Given the description of an element on the screen output the (x, y) to click on. 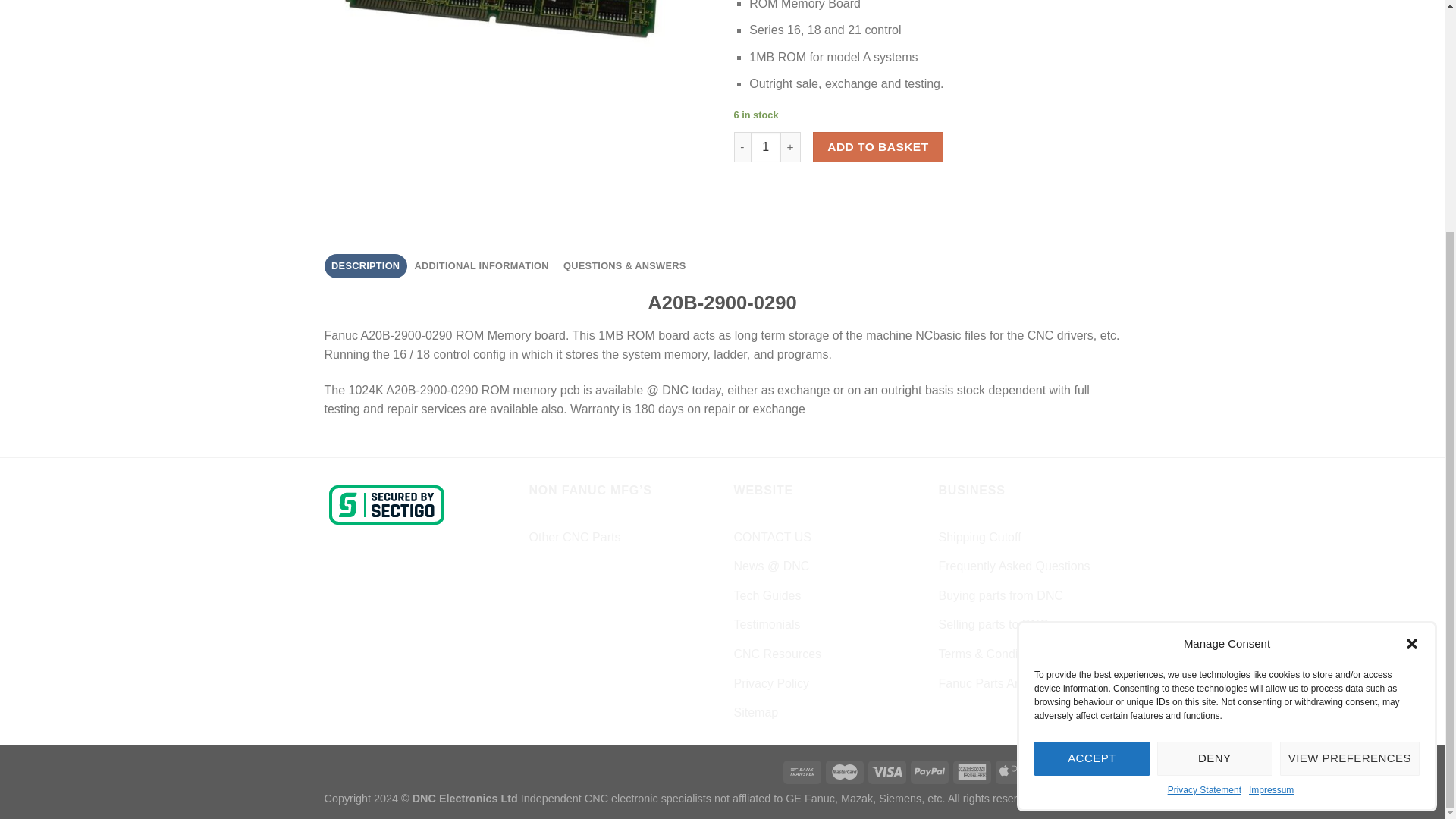
DENY (1214, 444)
- (742, 146)
Impressum (1271, 476)
1 (765, 146)
VIEW PREFERENCES (1349, 444)
Privacy Statement (1204, 476)
ACCEPT (1091, 444)
